Given the description of an element on the screen output the (x, y) to click on. 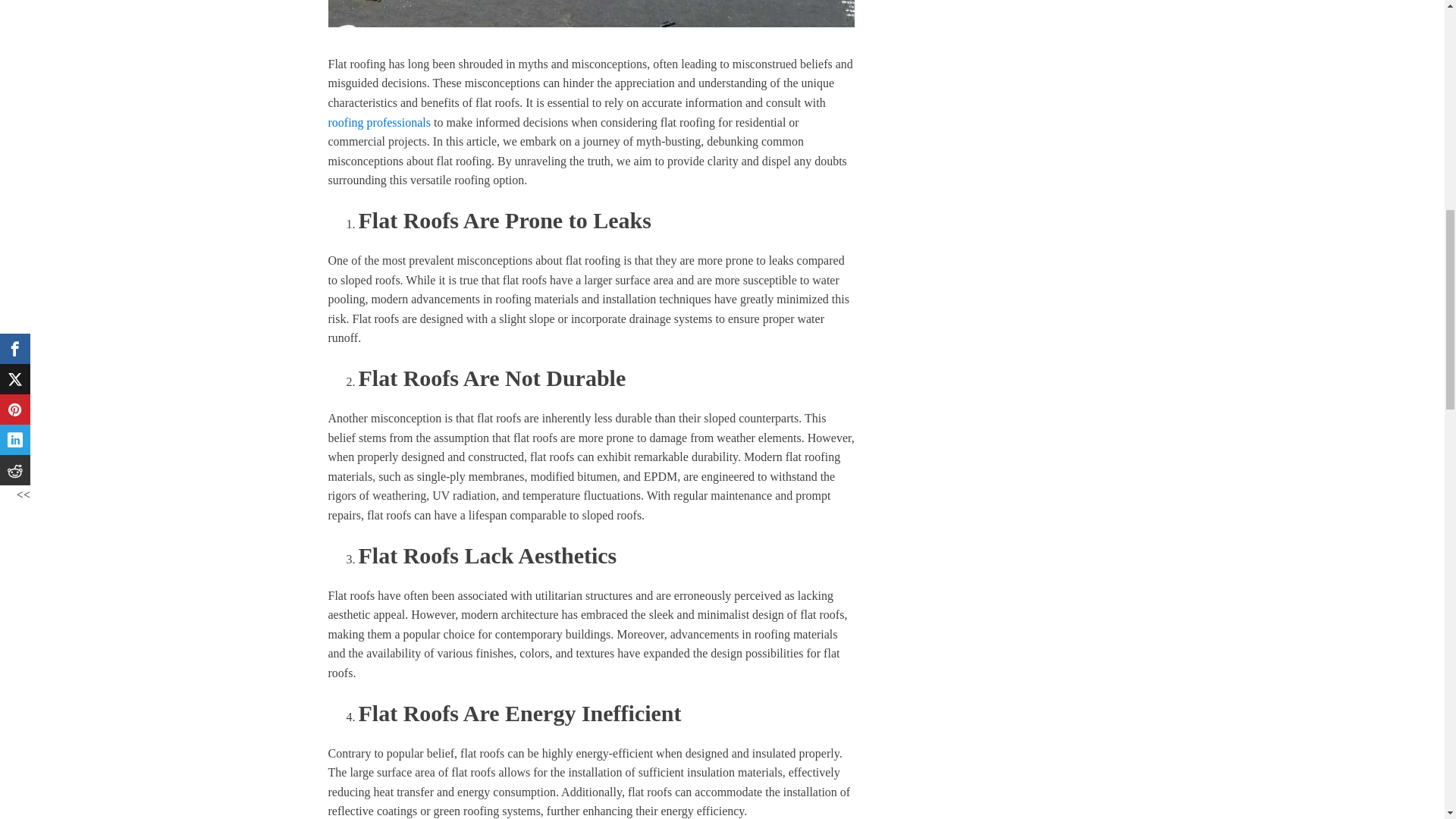
roofing professionals (378, 122)
